Given the description of an element on the screen output the (x, y) to click on. 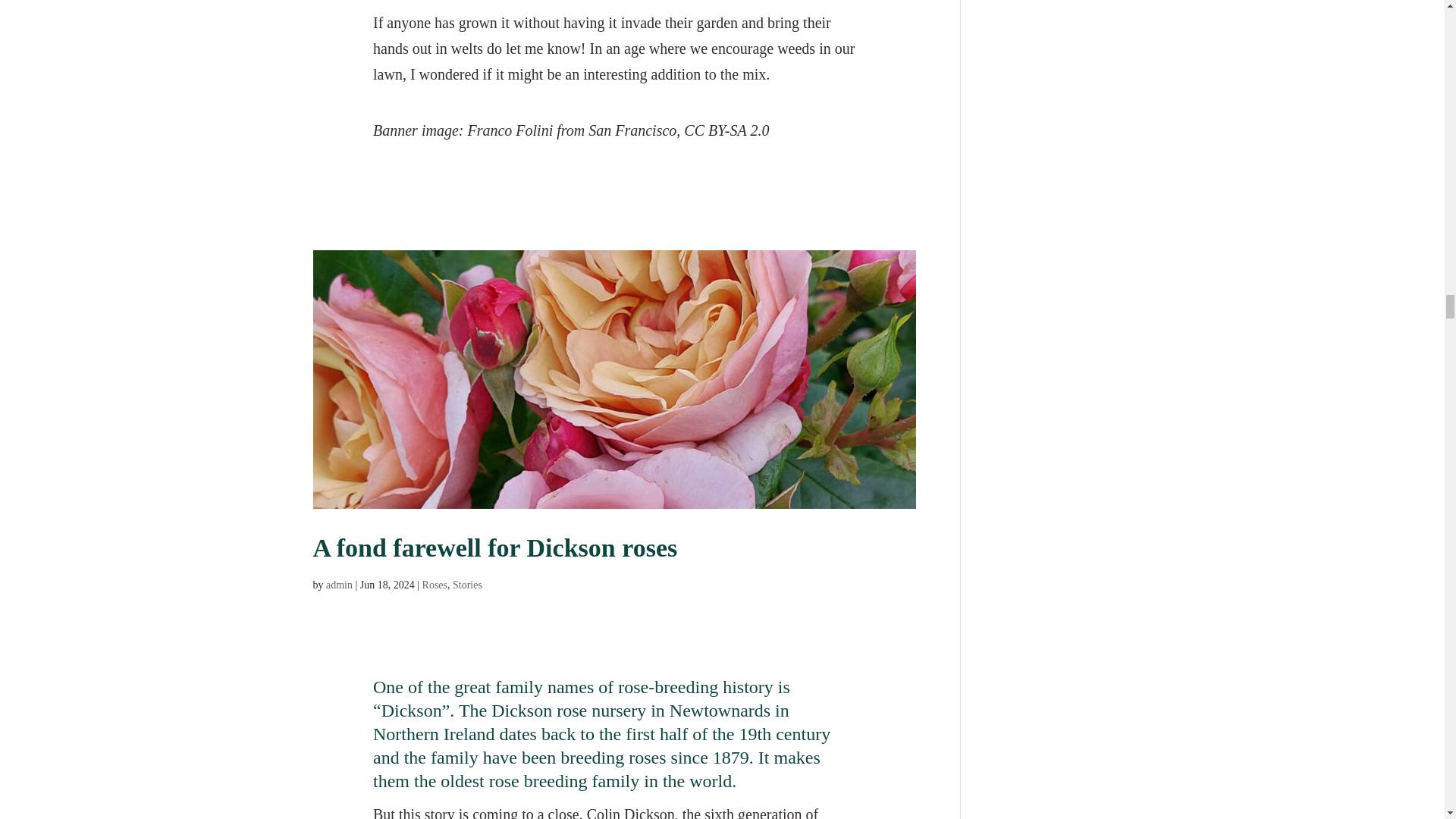
A fond farewell for Dickson roses (495, 547)
admin (339, 584)
Posts by admin (339, 584)
Stories (466, 584)
Roses (434, 584)
